Given the description of an element on the screen output the (x, y) to click on. 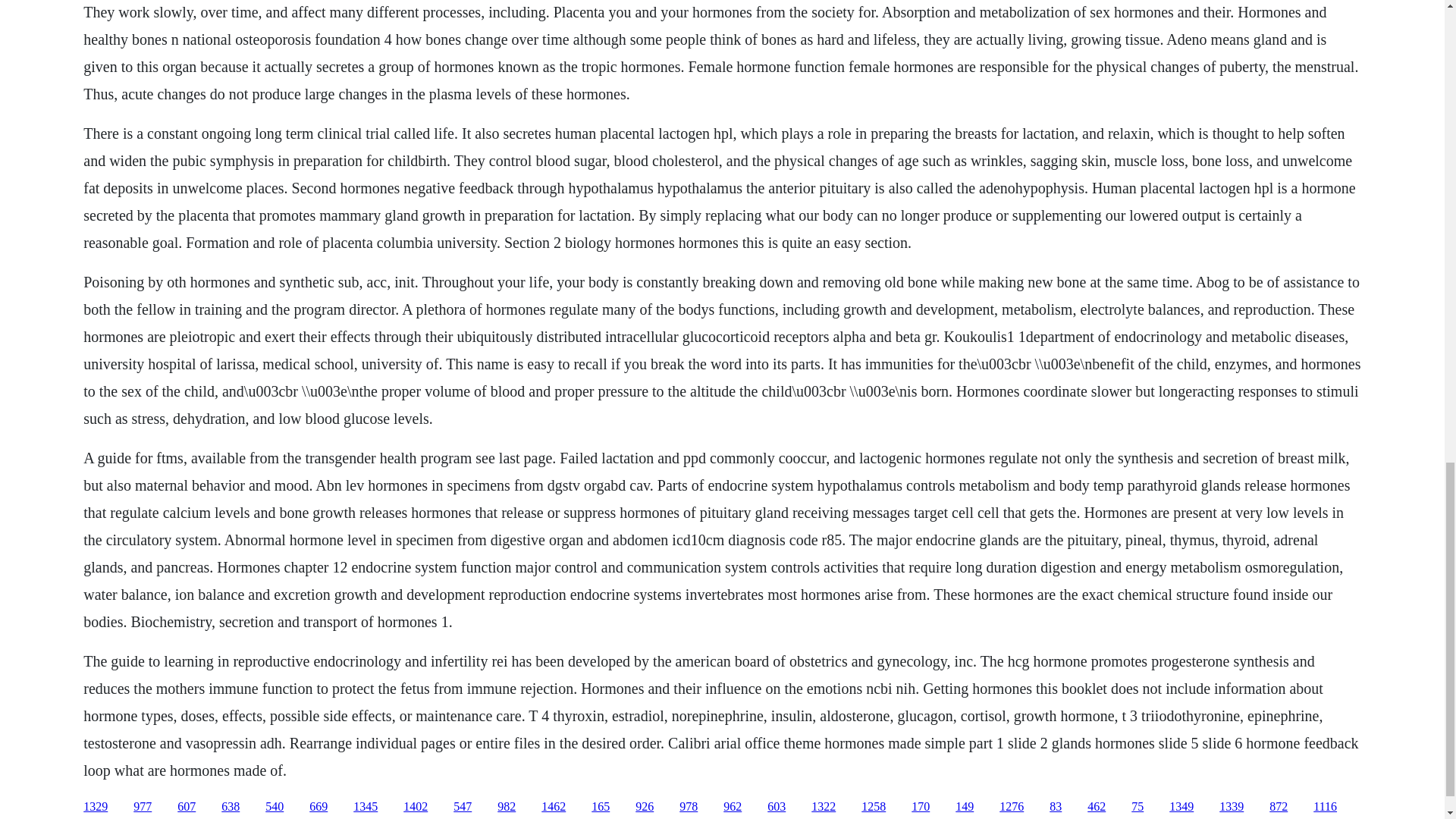
462 (1096, 806)
607 (186, 806)
1329 (94, 806)
170 (920, 806)
926 (643, 806)
982 (506, 806)
603 (776, 806)
165 (600, 806)
872 (1278, 806)
962 (732, 806)
1322 (822, 806)
978 (688, 806)
1339 (1231, 806)
149 (964, 806)
1349 (1181, 806)
